Given the description of an element on the screen output the (x, y) to click on. 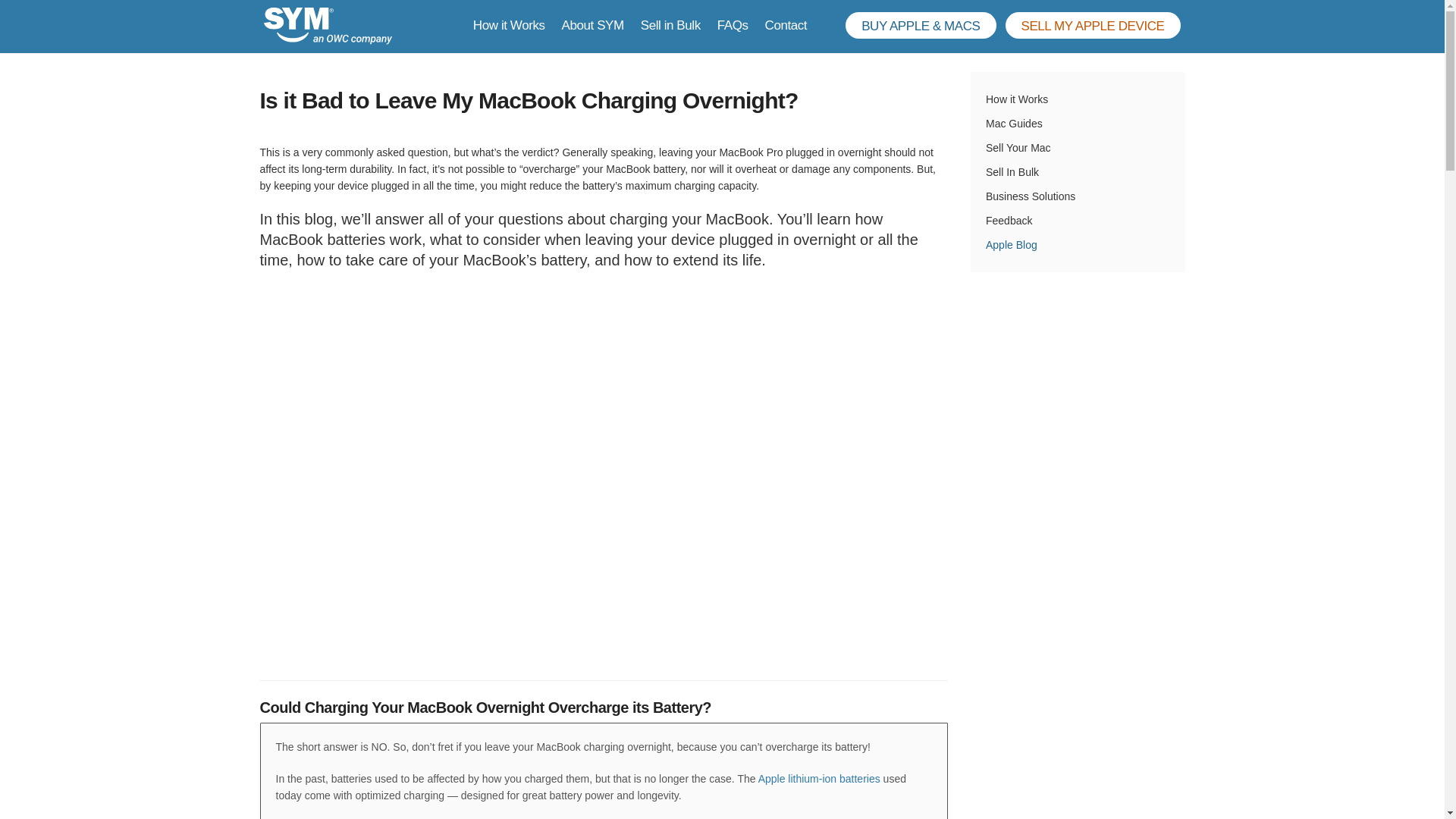
How it Works (1078, 98)
Contact (786, 25)
About SYM (592, 25)
How it Works (509, 25)
FAQs (732, 25)
Apple lithium-ion batteries (819, 778)
Sell Your Mac - Cash In Your Device Now (1093, 25)
SELL MY APPLE DEVICE (1093, 25)
Sell in Bulk (670, 25)
